Given the description of an element on the screen output the (x, y) to click on. 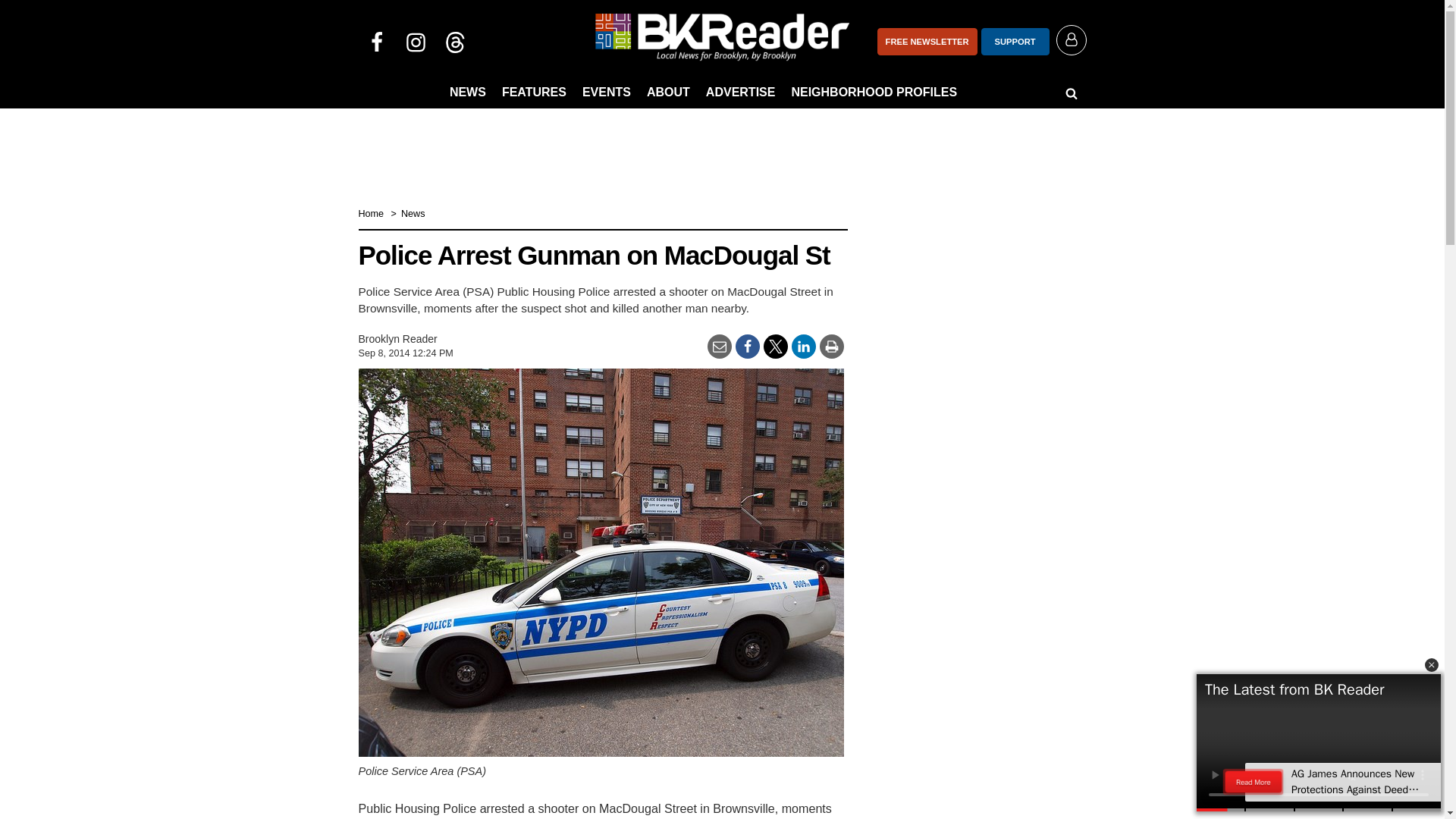
Instagram (415, 41)
EVENTS (606, 92)
3rd party ad content (972, 723)
NEWS (468, 92)
ABOUT (667, 92)
3rd party ad content (721, 146)
Facebook (376, 41)
SUPPORT (1015, 41)
FREE NEWSLETTER (926, 41)
Threads (454, 41)
